Given the description of an element on the screen output the (x, y) to click on. 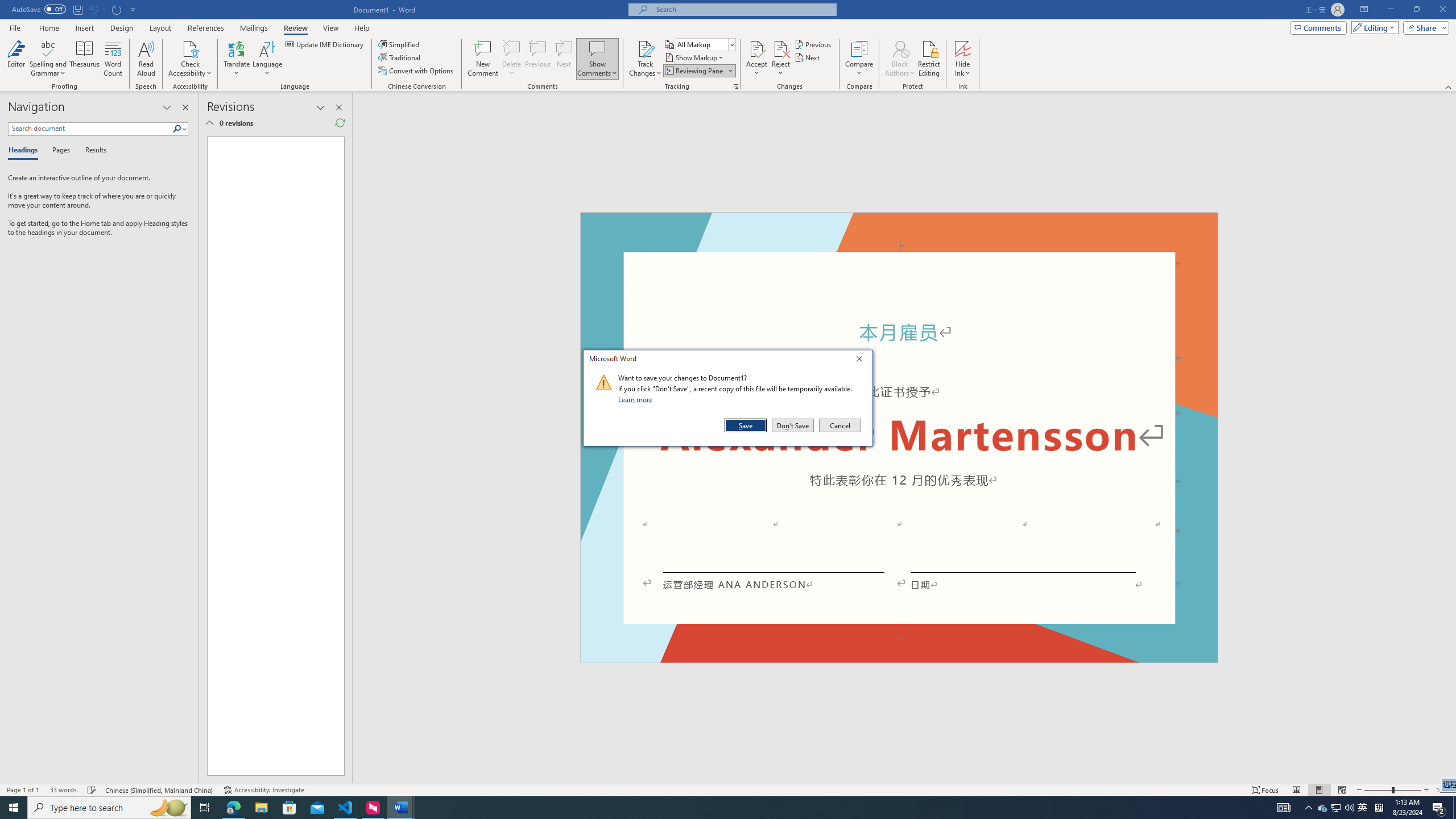
Delete (511, 58)
Track Changes (644, 48)
Spelling and Grammar (48, 48)
Read Aloud (145, 58)
New Comment (482, 58)
